Given the description of an element on the screen output the (x, y) to click on. 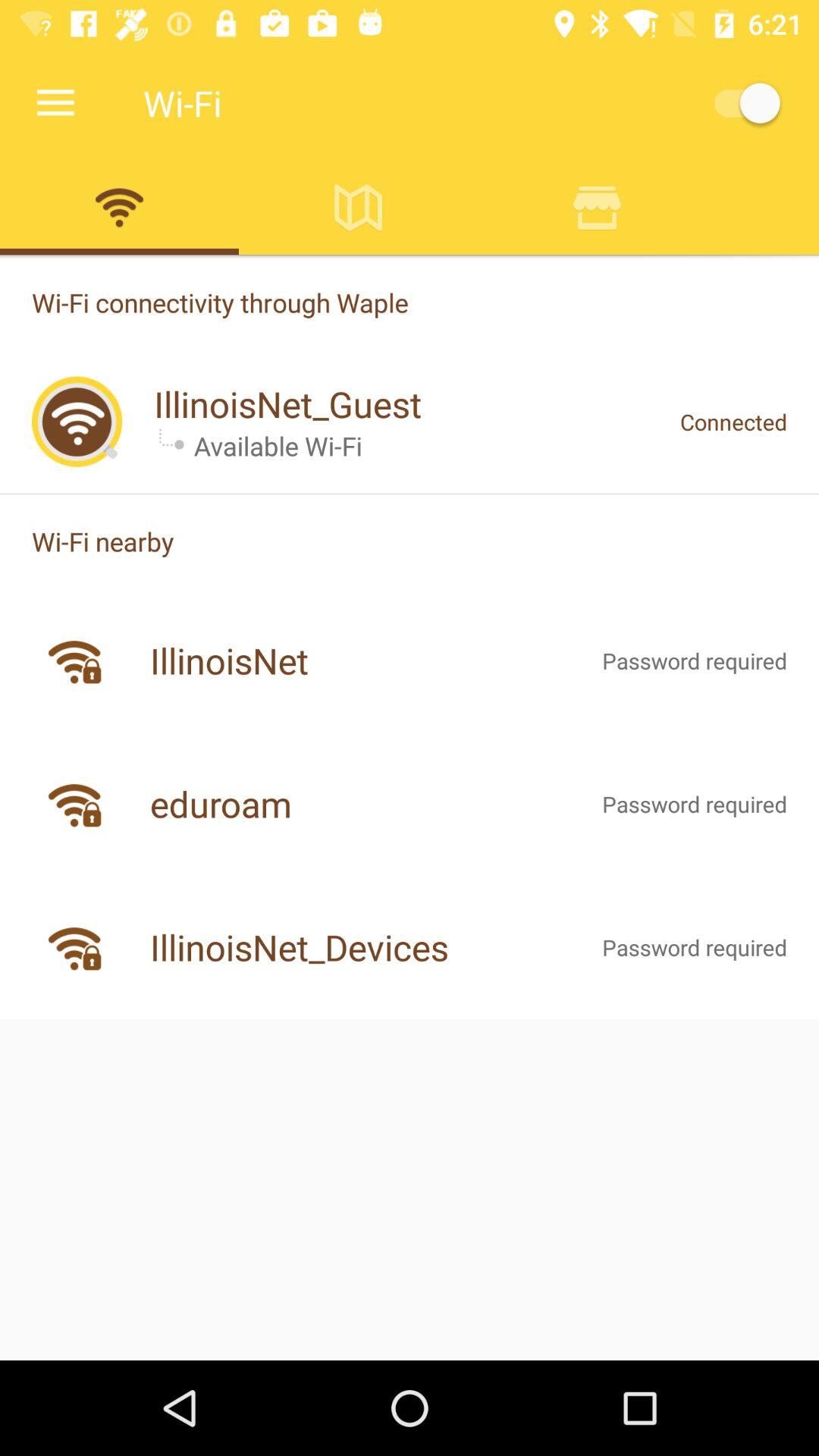
delete (596, 206)
